Given the description of an element on the screen output the (x, y) to click on. 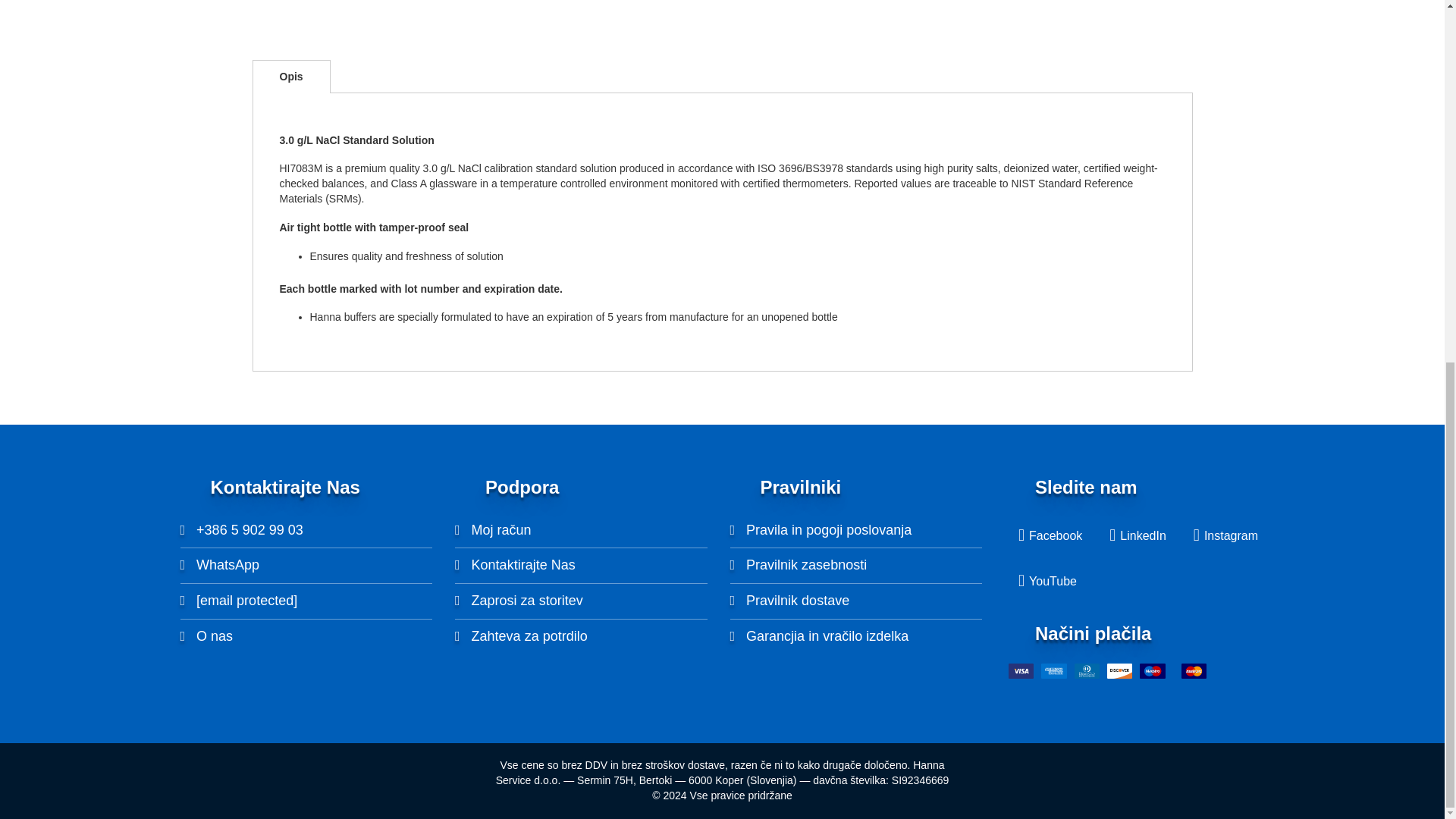
Zahteva za potrdilo (521, 635)
O nas (206, 635)
Kontaktirajte Nas (514, 564)
YouTube (1047, 581)
LinkedIn (1137, 536)
Facebook (1050, 536)
Zaprosi za storitev (518, 600)
Instagram (1225, 536)
WhatsApp (220, 564)
